Given the description of an element on the screen output the (x, y) to click on. 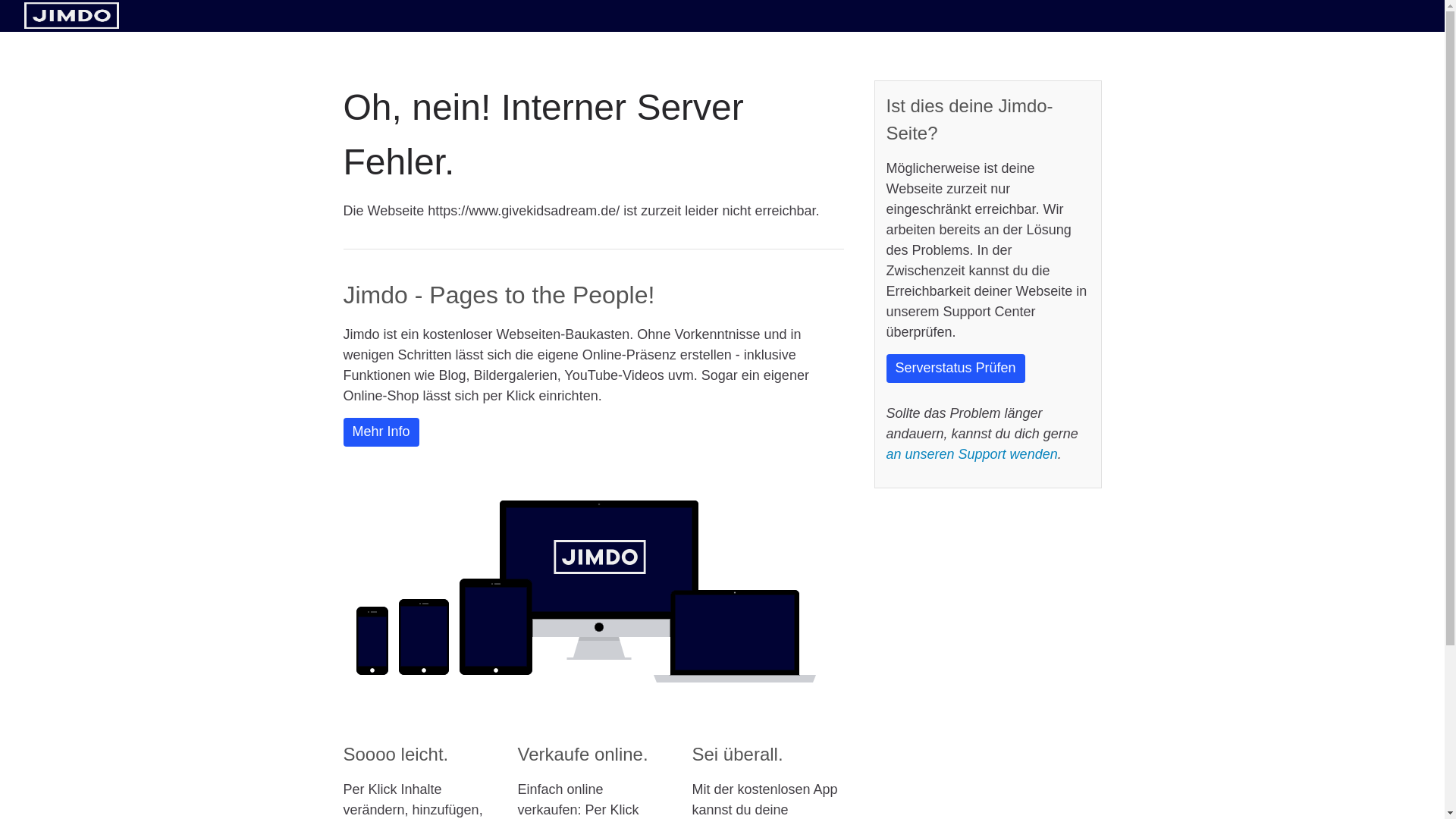
Mehr Info (380, 431)
an unseren Support wenden (971, 453)
